Given the description of an element on the screen output the (x, y) to click on. 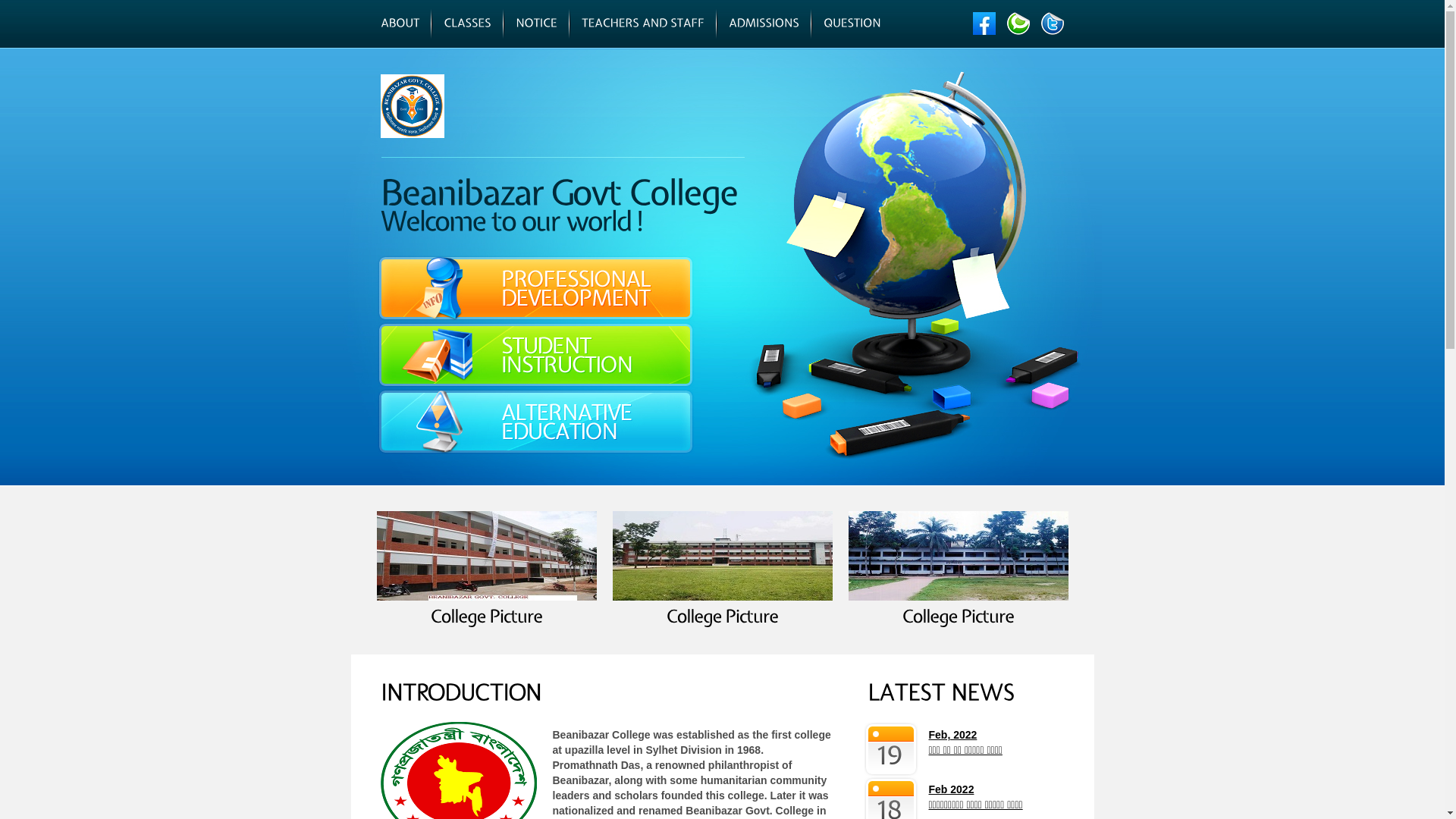
Learn Center Element type: text (483, 106)
